Given the description of an element on the screen output the (x, y) to click on. 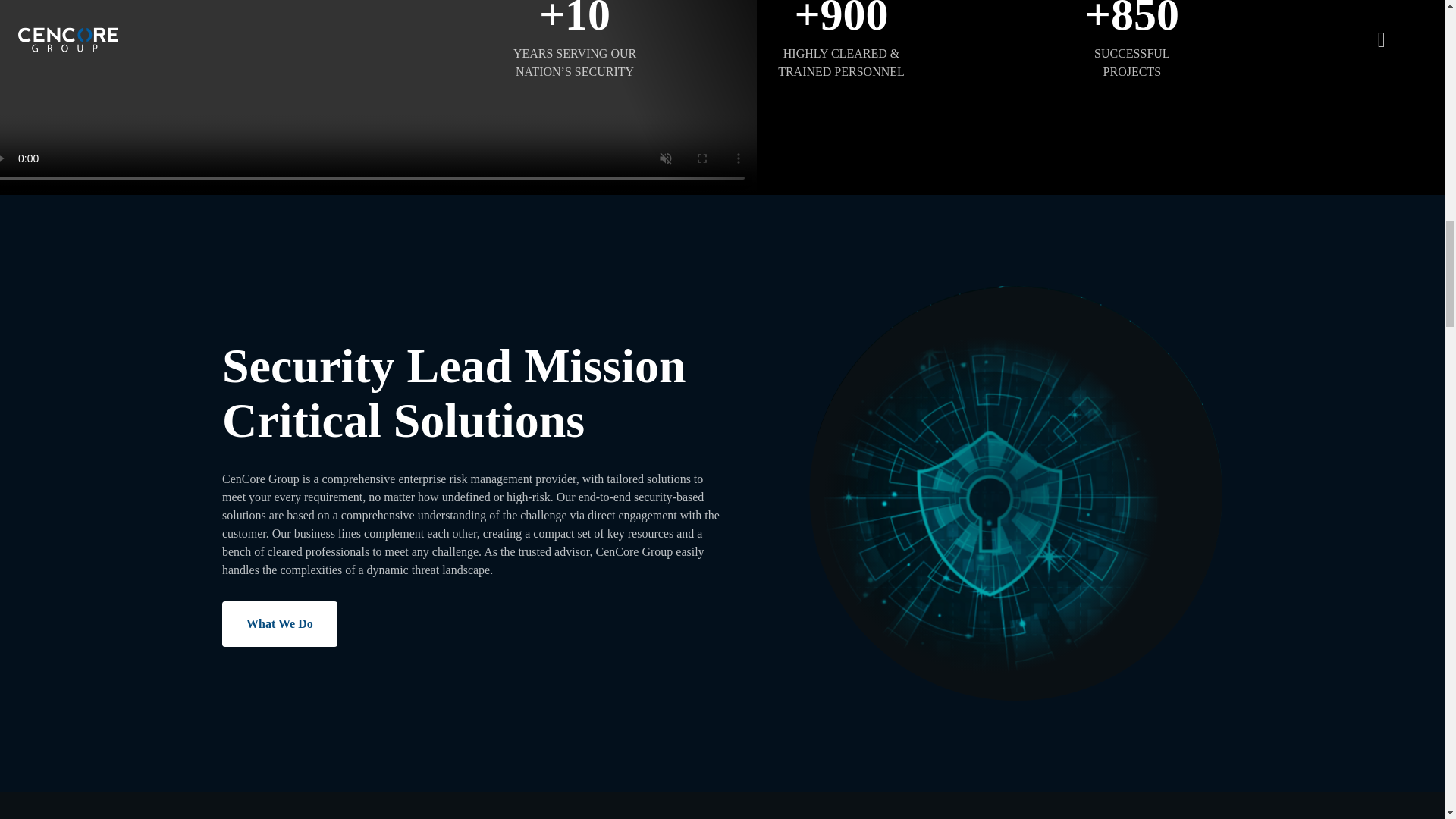
What We Do (279, 624)
